Given the description of an element on the screen output the (x, y) to click on. 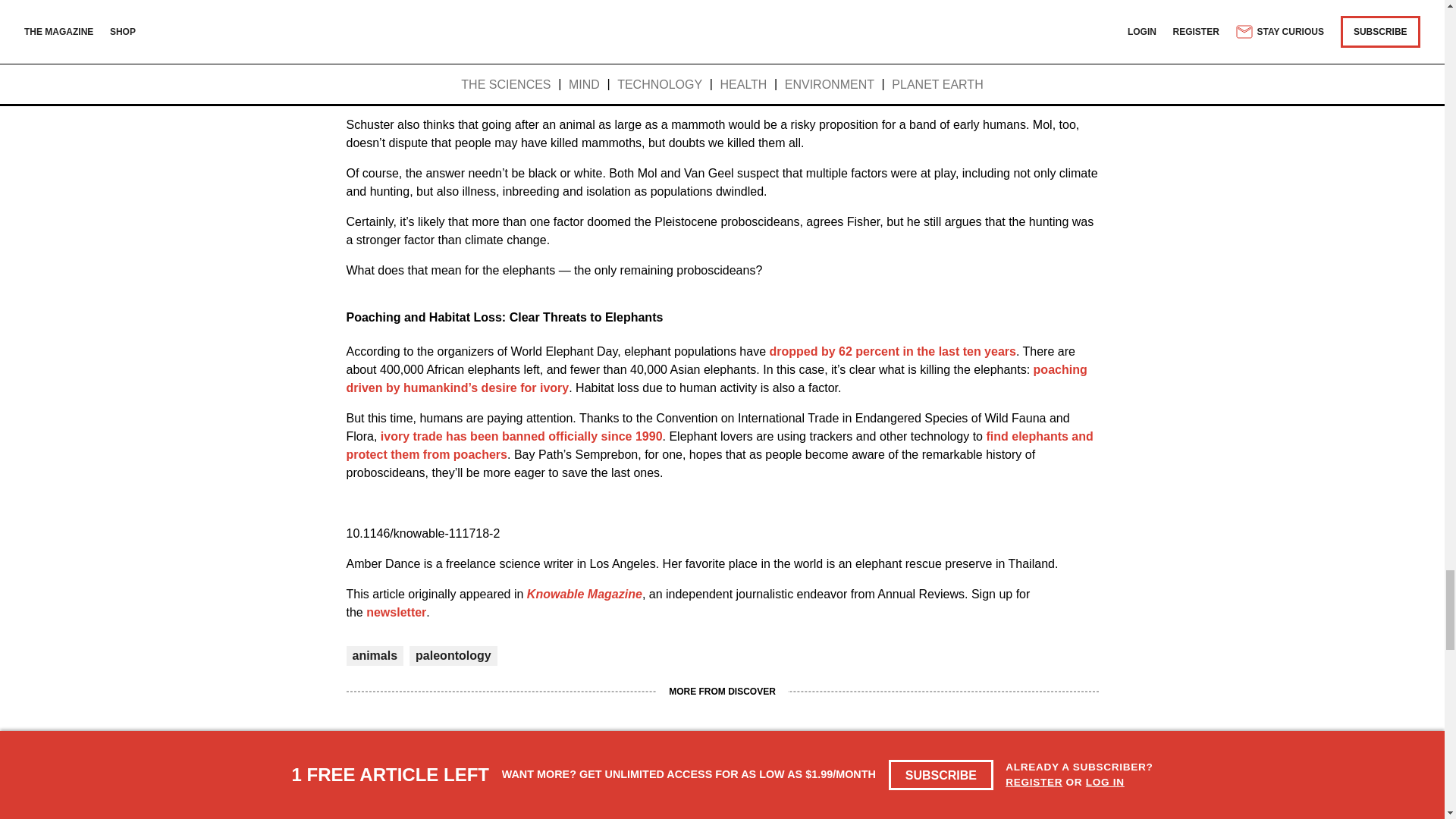
find elephants and protect them from poachers (719, 445)
dropped by 62 percent in the last ten years (891, 350)
ivory trade has been banned officially since 1990 (521, 436)
